Given the description of an element on the screen output the (x, y) to click on. 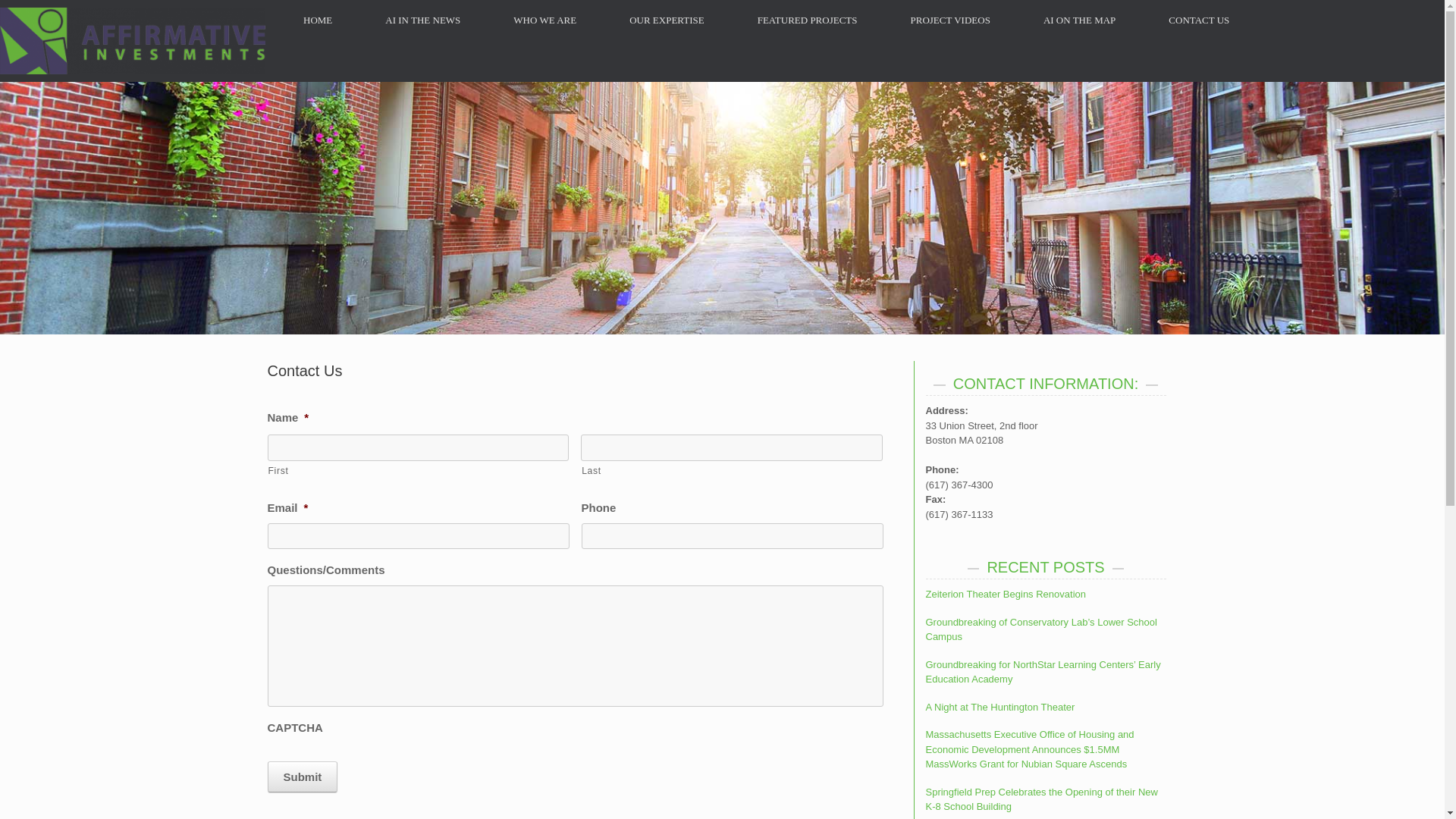
FEATURED PROJECTS (806, 20)
Submit (301, 776)
OUR EXPERTISE (666, 20)
AI ON THE MAP (1078, 20)
Zeiterion Theater Begins Renovation (1005, 593)
HOME (317, 20)
WHO WE ARE (544, 20)
PROJECT VIDEOS (949, 20)
AI IN THE NEWS (422, 20)
Submit (301, 776)
